Given the description of an element on the screen output the (x, y) to click on. 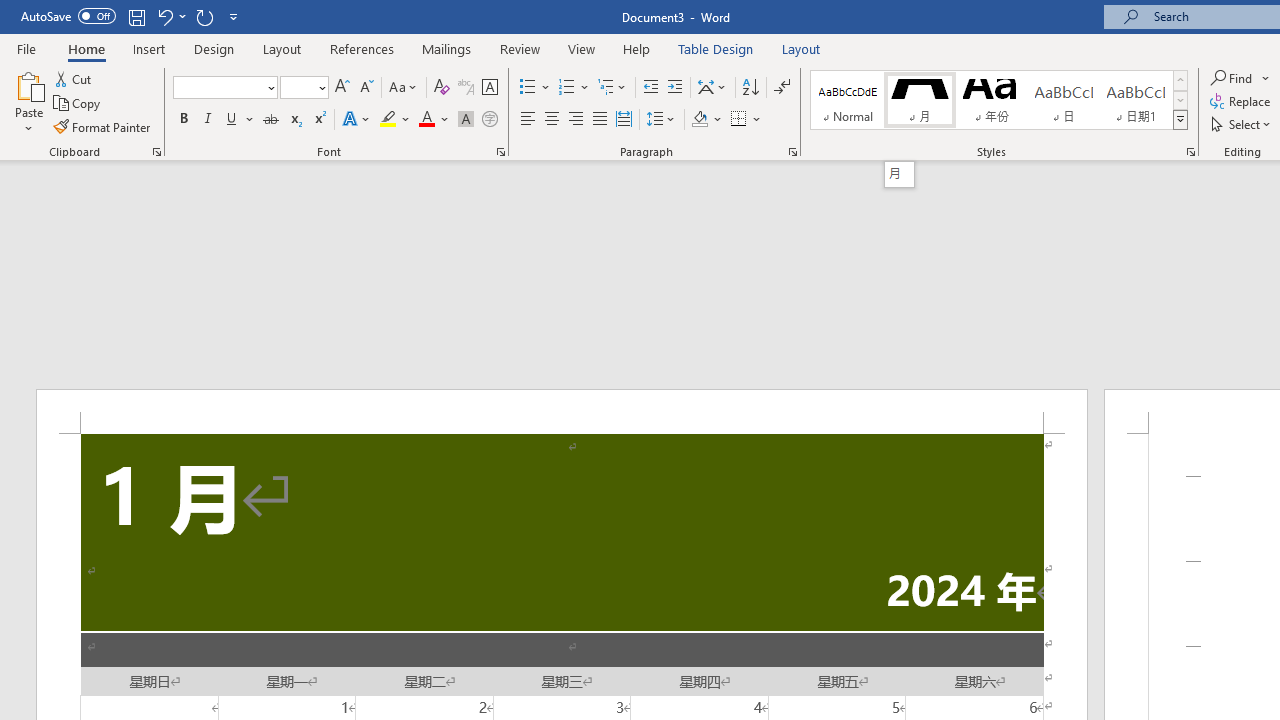
Font Color RGB(255, 0, 0) (426, 119)
Undo Apply Quick Style (170, 15)
Shrink Font (365, 87)
Repeat Doc Close (204, 15)
Justify (599, 119)
Shading (706, 119)
Text Effects and Typography (357, 119)
Align Left (527, 119)
